Given the description of an element on the screen output the (x, y) to click on. 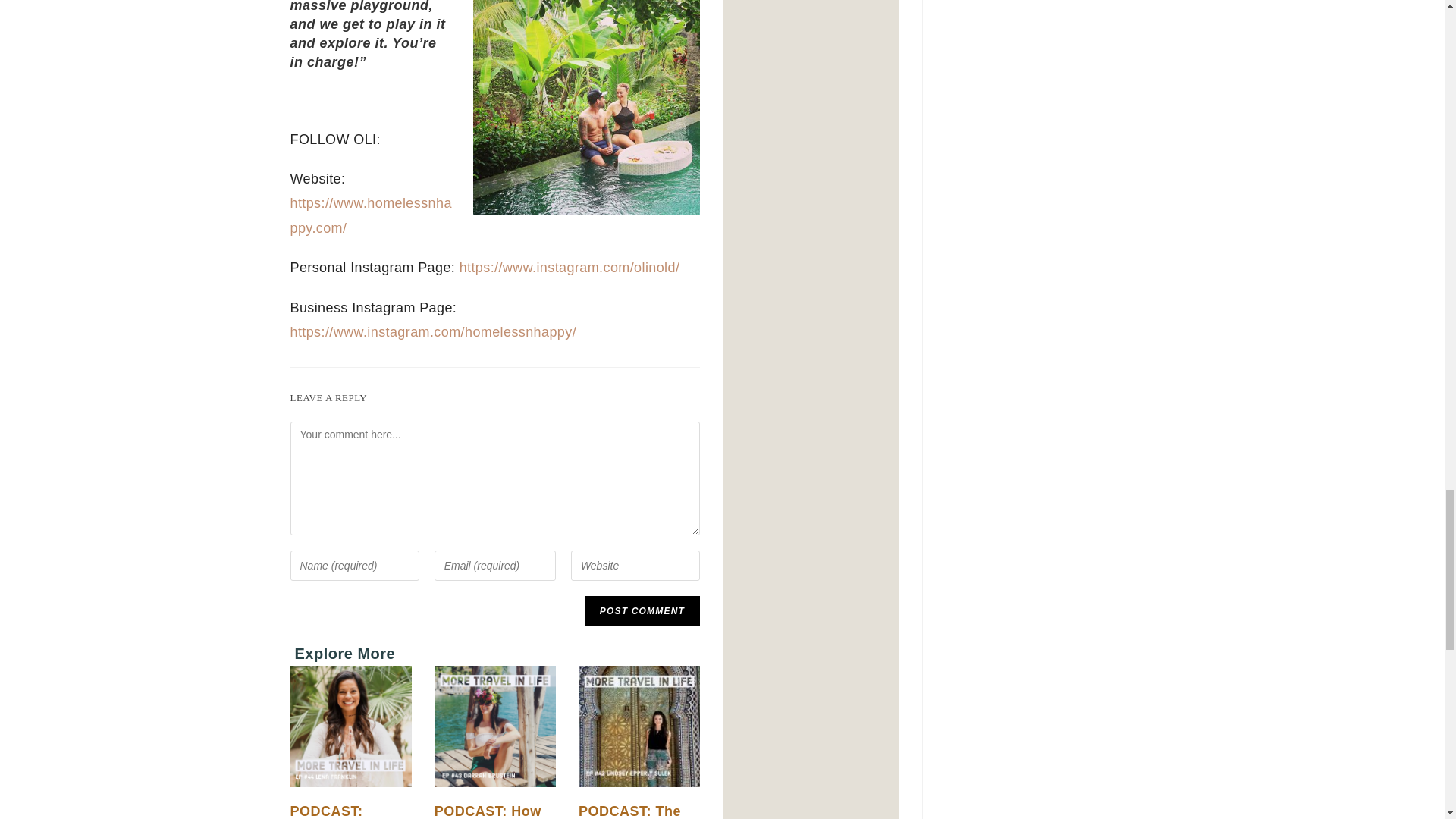
Post Comment (642, 611)
Post Comment (642, 611)
